Given the description of an element on the screen output the (x, y) to click on. 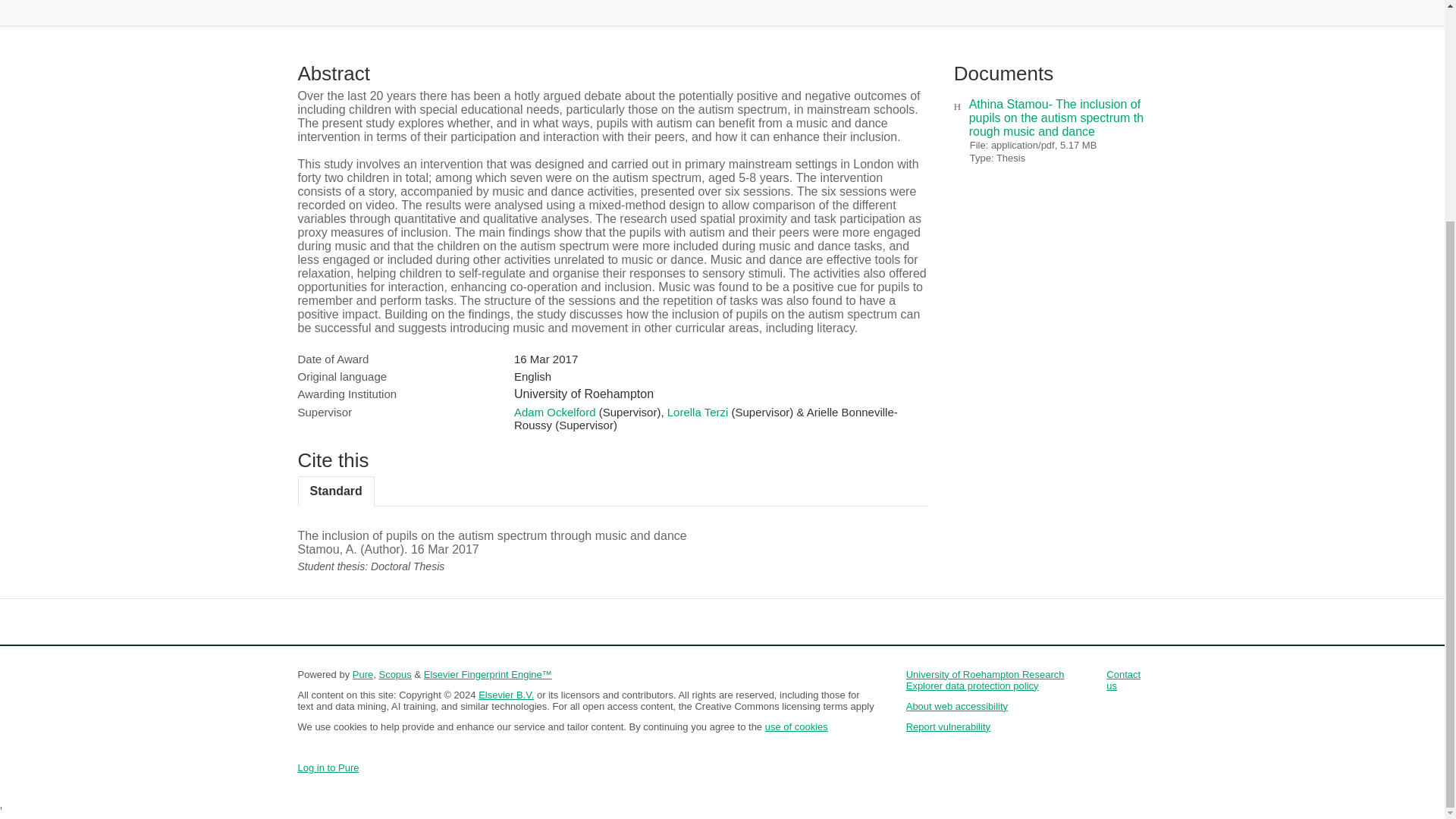
Elsevier B.V. (506, 695)
Report vulnerability (947, 726)
Scopus (394, 674)
Lorella Terzi (697, 411)
Log in to Pure (327, 767)
About web accessibility (956, 706)
Pure (362, 674)
Contact us (1123, 680)
Adam Ockelford (554, 411)
use of cookies (796, 726)
